Given the description of an element on the screen output the (x, y) to click on. 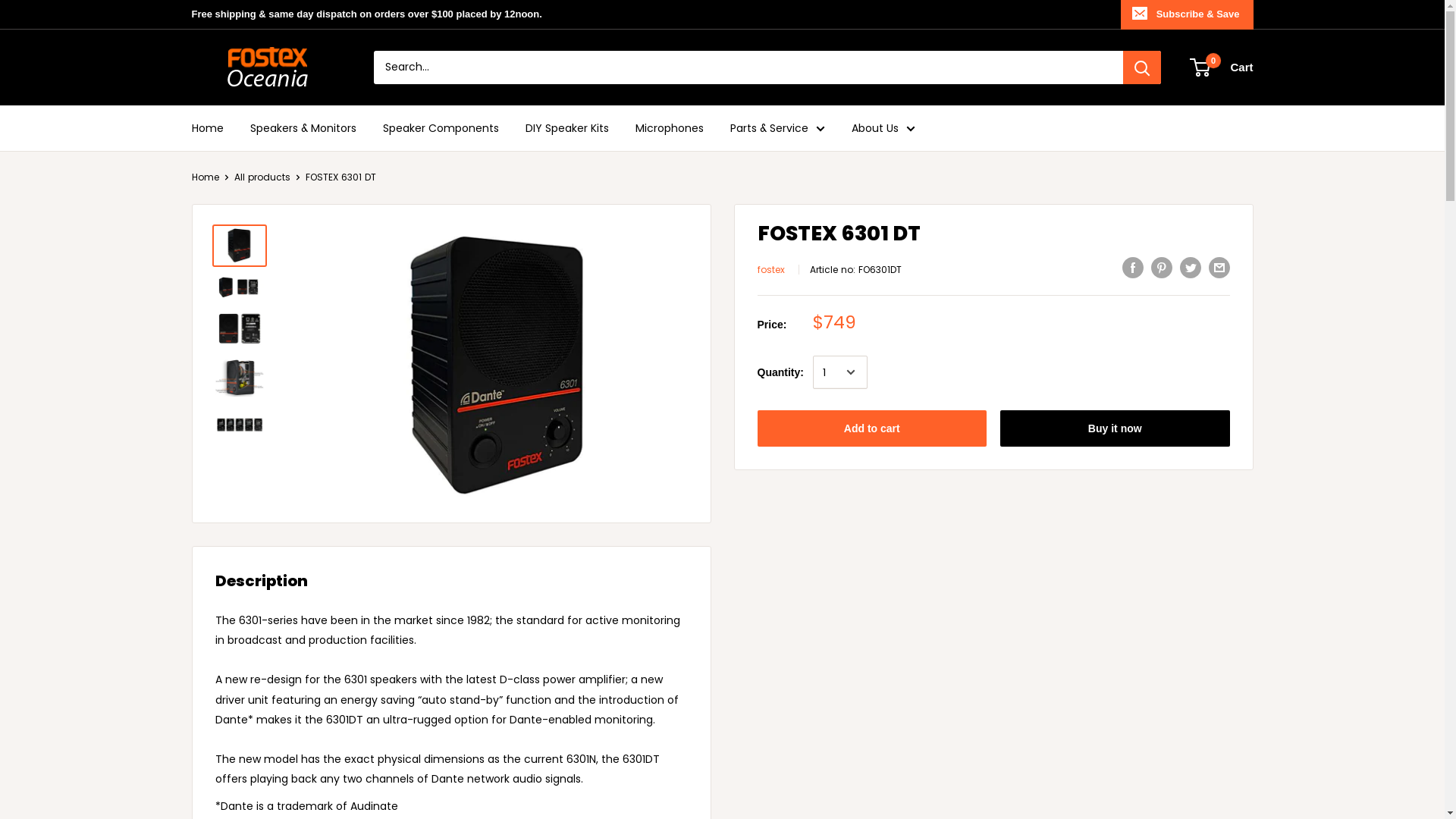
Home Element type: text (204, 176)
DIY Speaker Kits Element type: text (566, 128)
Speakers & Monitors Element type: text (303, 128)
About Us Element type: text (882, 128)
Parts & Service Element type: text (776, 128)
0
Cart Element type: text (1221, 67)
Home Element type: text (206, 128)
Add to cart Element type: text (871, 428)
fostex Element type: text (770, 269)
All products Element type: text (261, 176)
Microphones Element type: text (669, 128)
Buy it now Element type: text (1115, 428)
Subscribe & Save Element type: text (1186, 14)
Speaker Components Element type: text (440, 128)
